Given the description of an element on the screen output the (x, y) to click on. 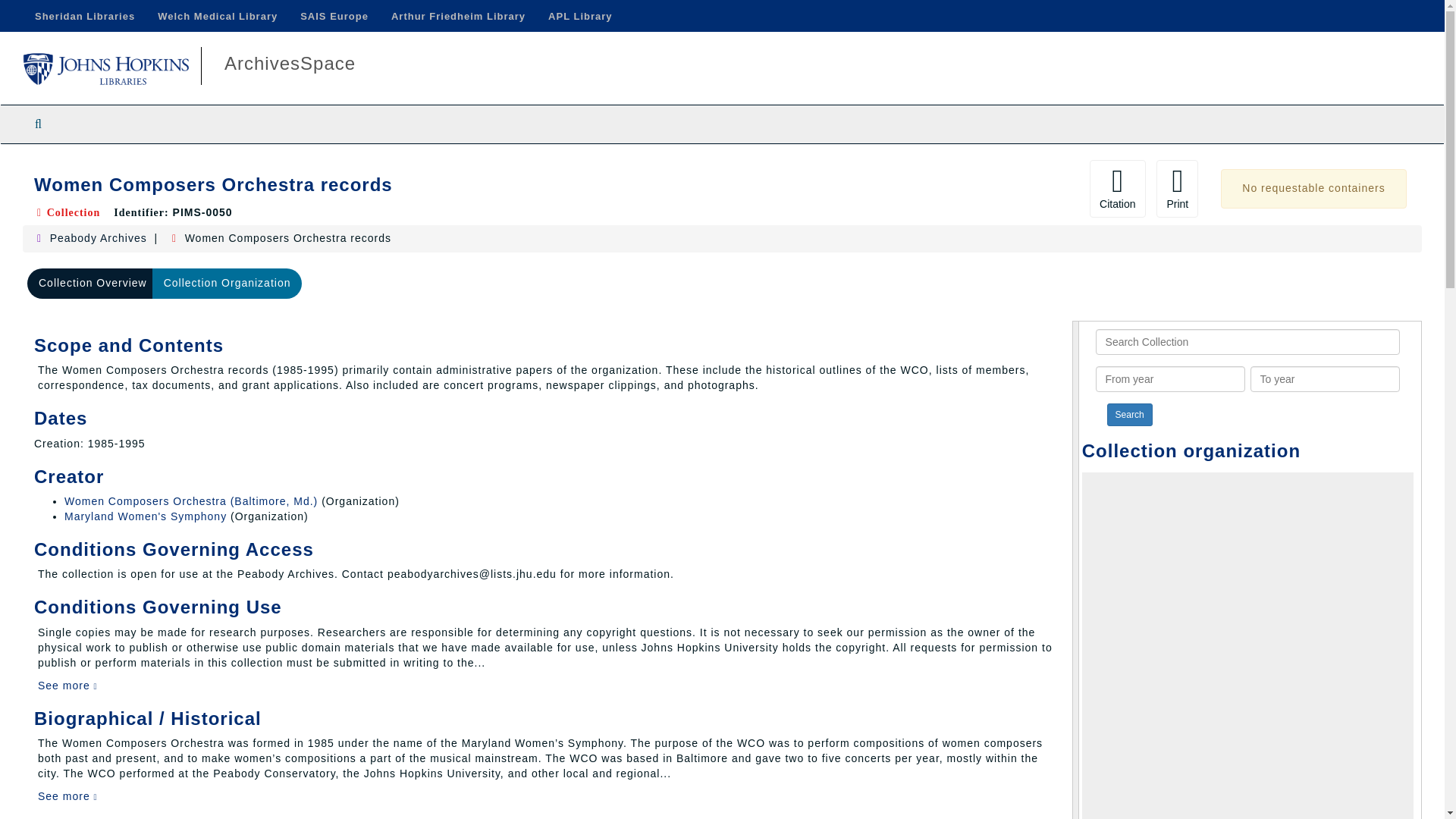
Collection Organization (227, 283)
Search The Archives (38, 124)
See more (67, 796)
Search (1129, 414)
SAIS Europe (334, 15)
See more (67, 685)
Citation (1116, 188)
APL Library (580, 15)
Print (1177, 188)
Welch Medical Library (217, 15)
Maryland Women's Symphony (145, 516)
Peabody Archives (98, 237)
Search The Archives (38, 124)
Collection Overview (92, 283)
